Given the description of an element on the screen output the (x, y) to click on. 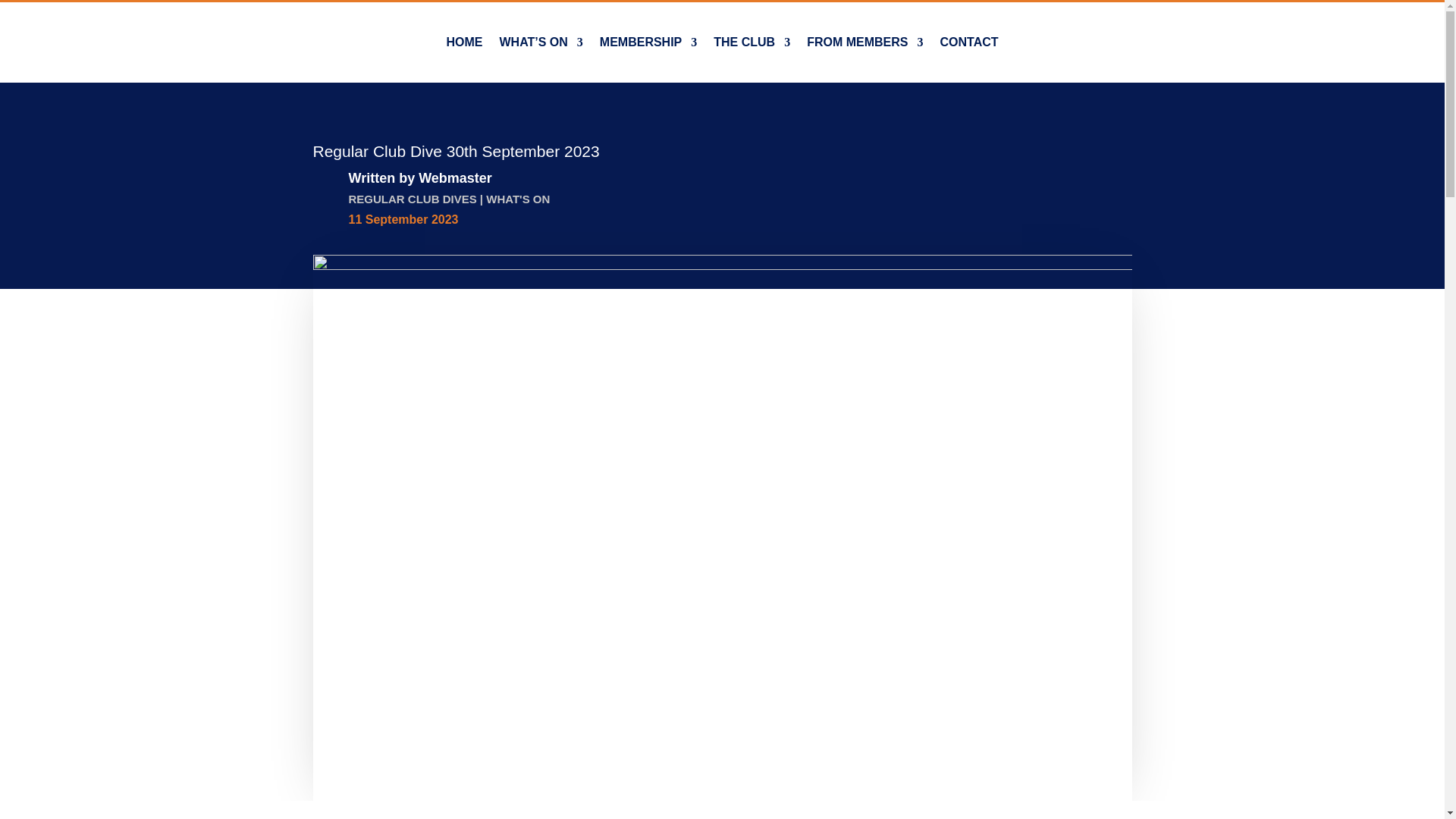
CONTACT (969, 42)
THE CLUB (751, 42)
FROM MEMBERS (864, 42)
MEMBERSHIP (648, 42)
